Given the description of an element on the screen output the (x, y) to click on. 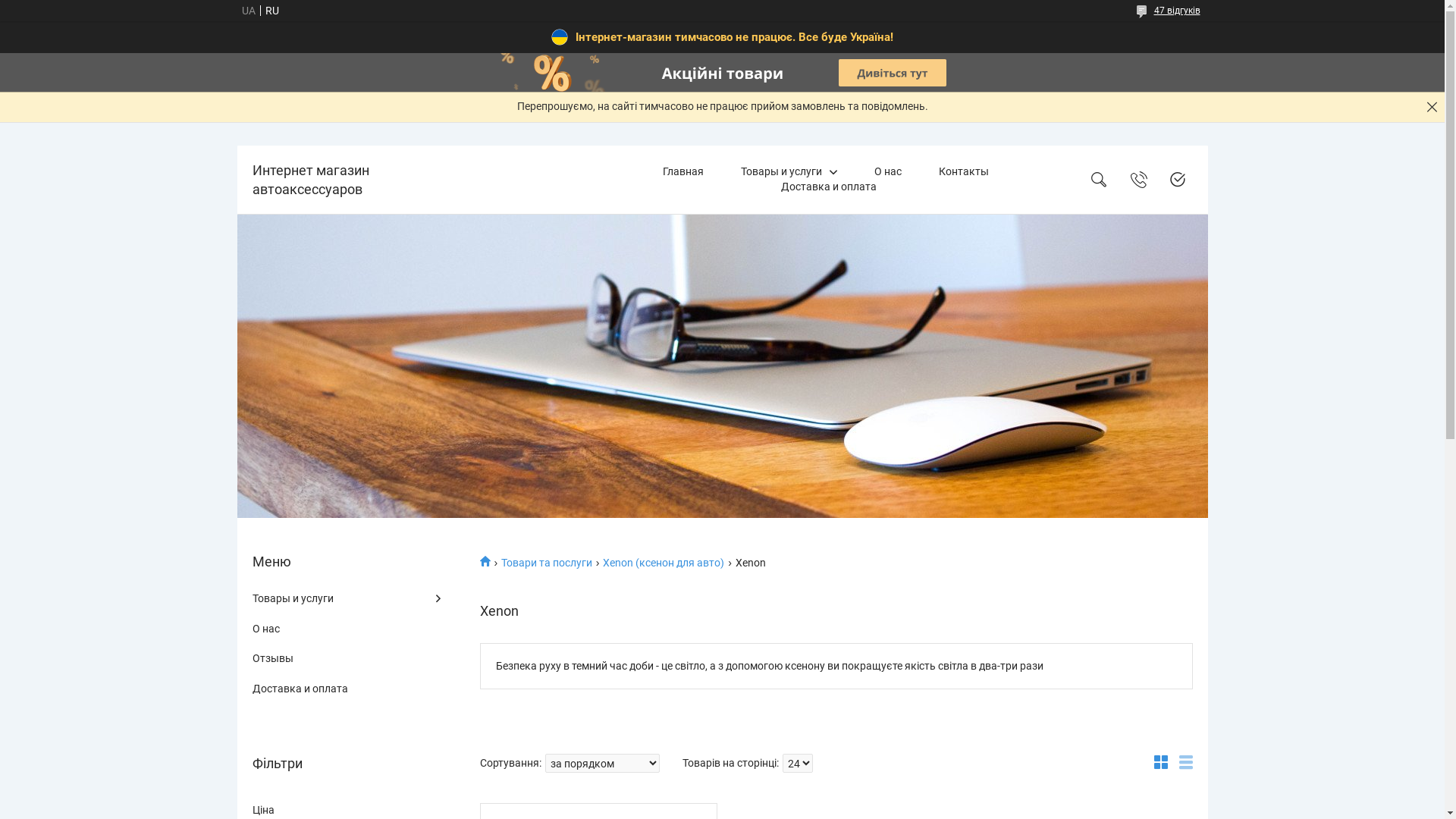
UA Element type: text (247, 10)
RU Element type: text (270, 10)
